Given the description of an element on the screen output the (x, y) to click on. 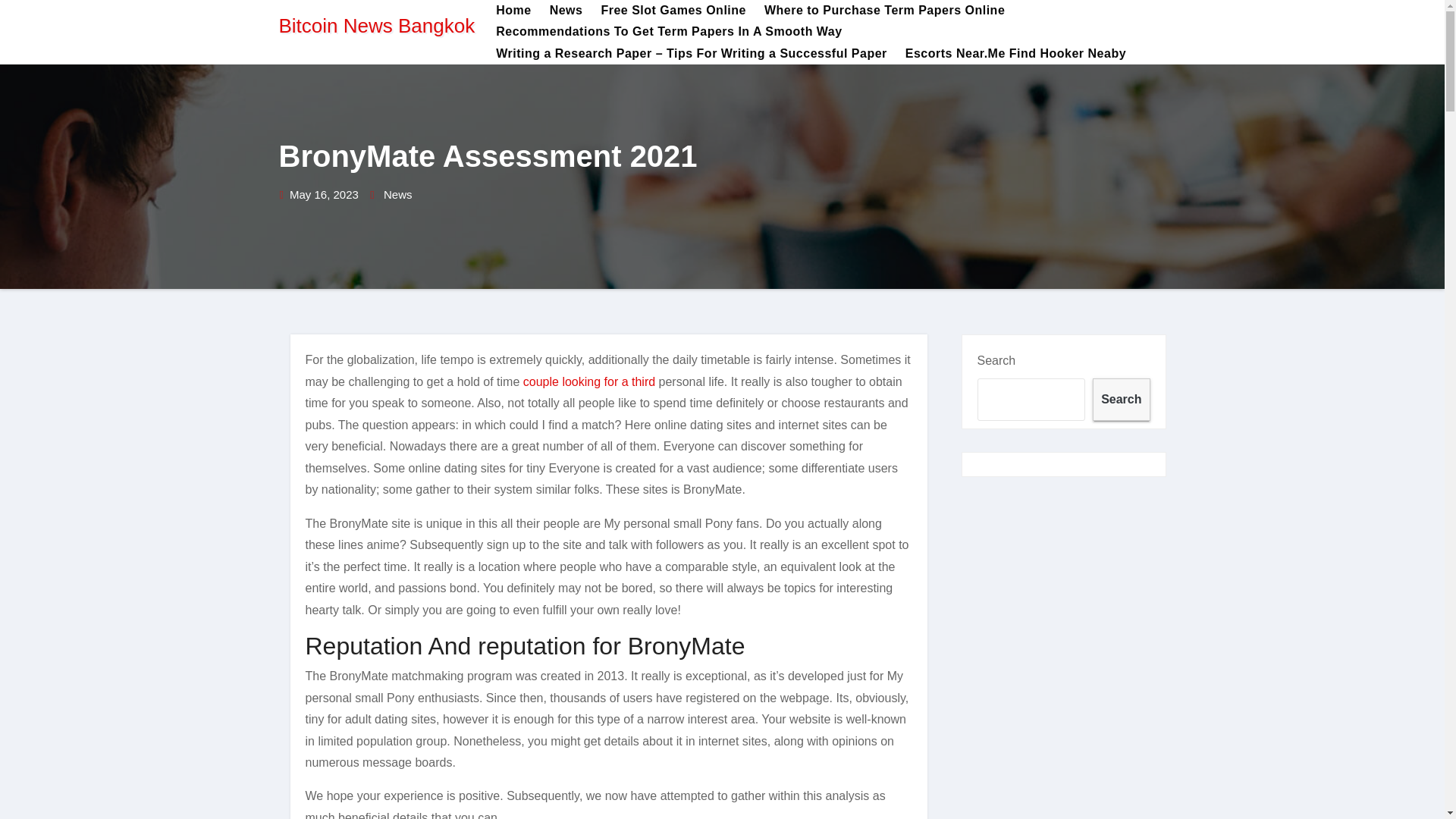
couple looking for a third (588, 381)
Where to Purchase Term Papers Online (884, 10)
Recommendations To Get Term Papers In A Smooth Way (668, 31)
News (566, 10)
Bitcoin News Bangkok (377, 25)
Where to Purchase Term Papers Online (884, 10)
Home (513, 10)
Free Slot Games Online (673, 10)
Escorts Near.Me Find Hooker Neaby (1015, 53)
Recommendations To Get Term Papers In A Smooth Way (668, 31)
Home (513, 10)
Escorts Near.Me Find Hooker Neaby (1015, 53)
Free Slot Games Online (673, 10)
News (398, 195)
Search (1121, 399)
